Given the description of an element on the screen output the (x, y) to click on. 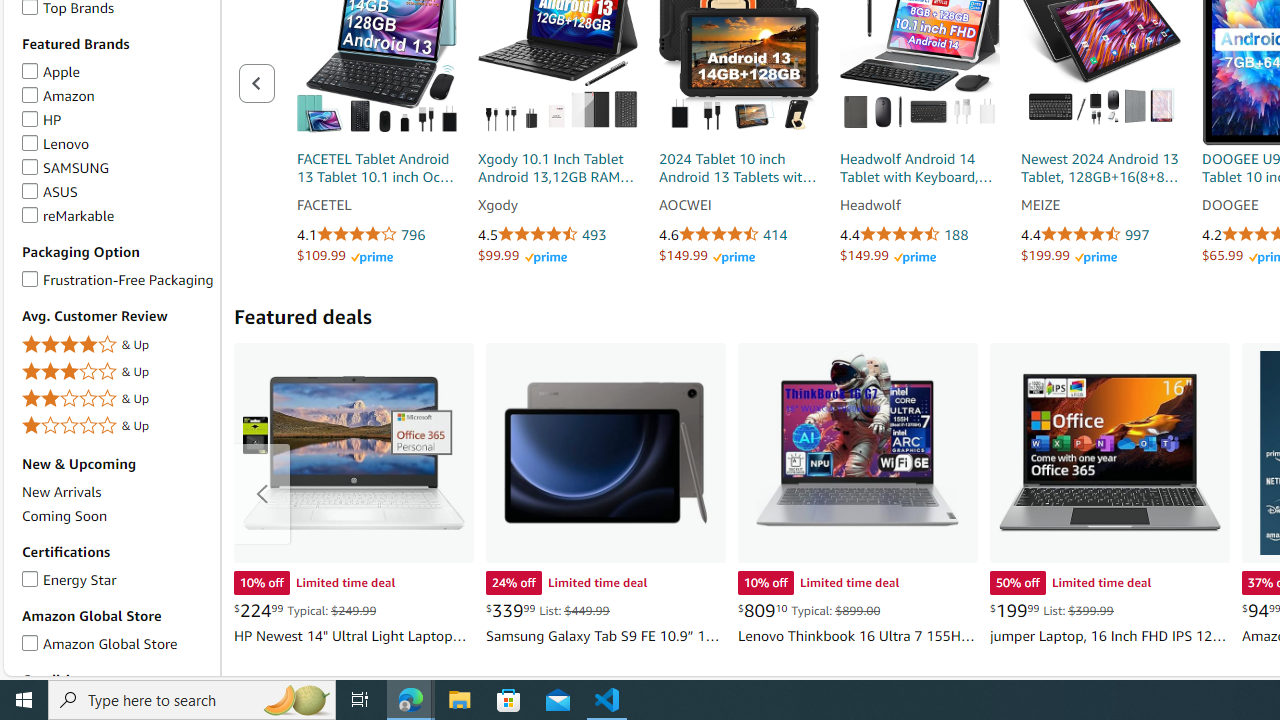
Galaxy Tab S9 FE (605, 452)
New Arrivals (61, 492)
Amazon Global StoreAmazon Global Store (117, 643)
$199.99 Amazon Prime (1069, 255)
Frustration-Free Packaging (29, 275)
AmazonAmazon (117, 95)
AppleApple (117, 71)
4.4 out of 5 stars 997 ratings (1101, 235)
3 Stars & Up (117, 371)
Lenovo (29, 139)
Amazon Amazon (57, 94)
ASUS (29, 187)
SAMSUNG (29, 164)
